Given the description of an element on the screen output the (x, y) to click on. 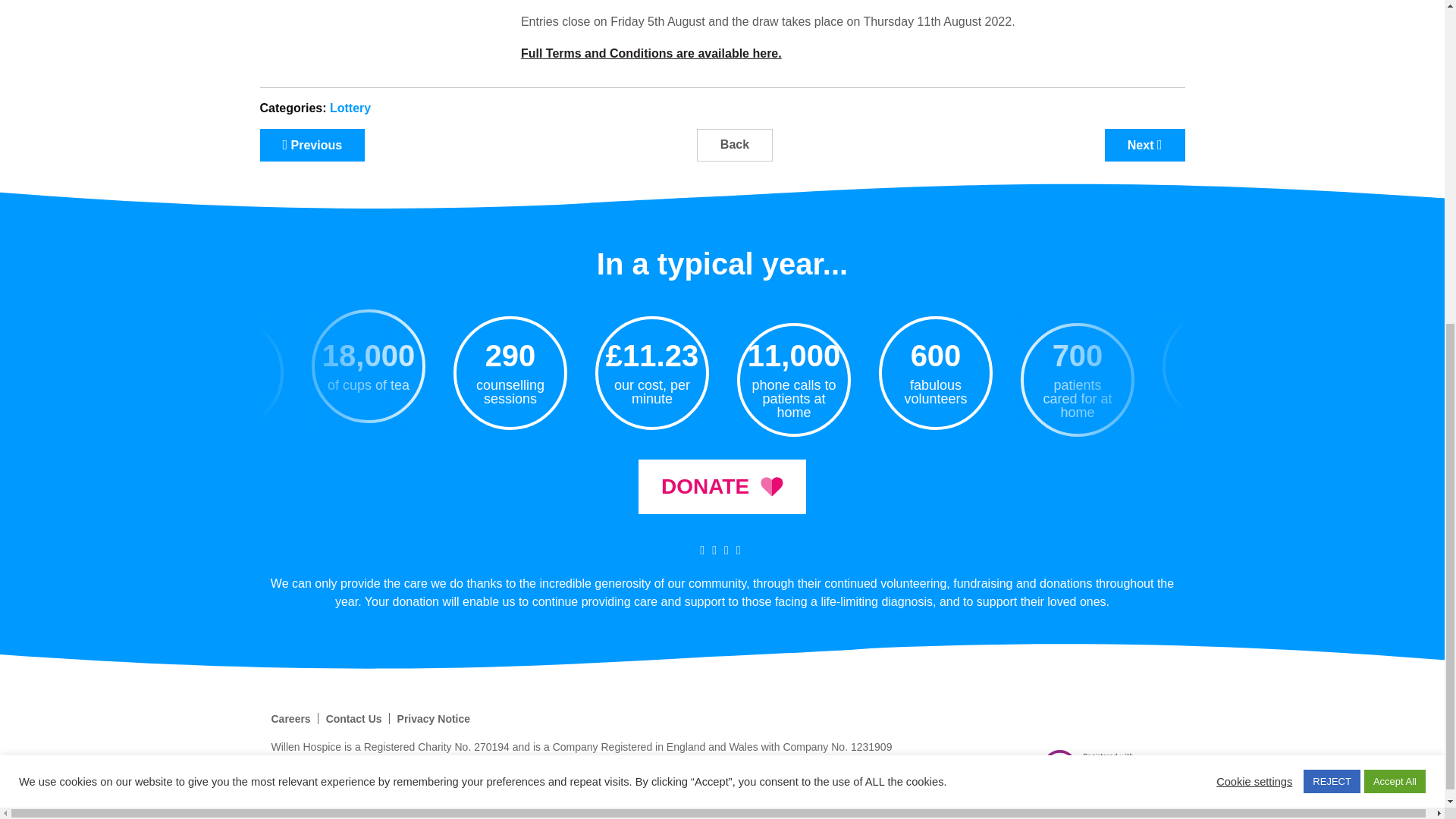
Donate (722, 486)
Fundraising Regulator (1099, 767)
